Given the description of an element on the screen output the (x, y) to click on. 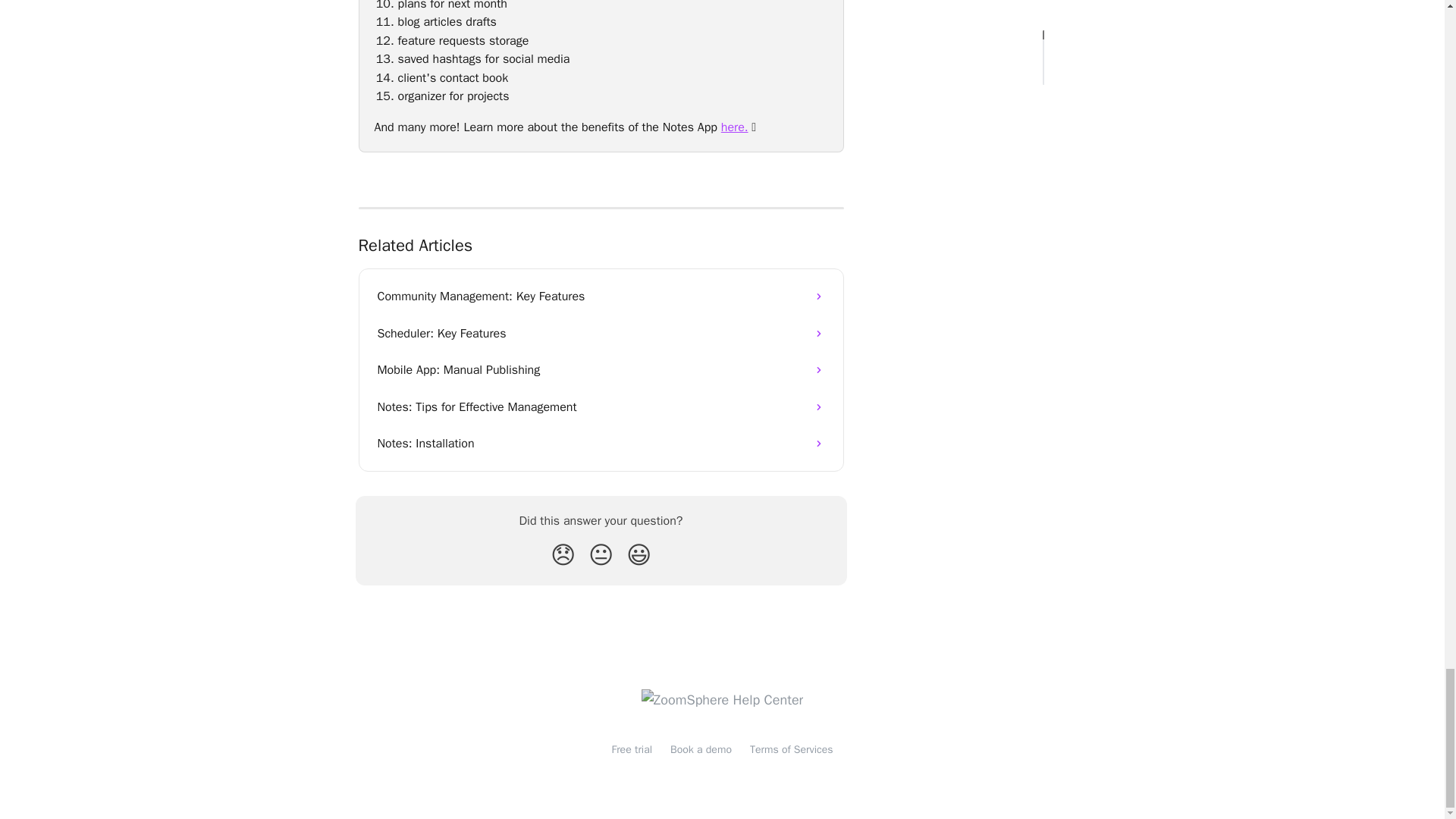
Disappointed (562, 554)
Scheduler: Key Features (601, 333)
Terms of Services (790, 748)
Mobile App: Manual Publishing (601, 370)
Free trial (631, 748)
Book a demo (700, 748)
here. (734, 127)
Smiley (638, 554)
Notes: Tips for Effective Management (601, 407)
Neutral (600, 554)
Notes: Installation (601, 443)
Community Management: Key Features (601, 296)
